Given the description of an element on the screen output the (x, y) to click on. 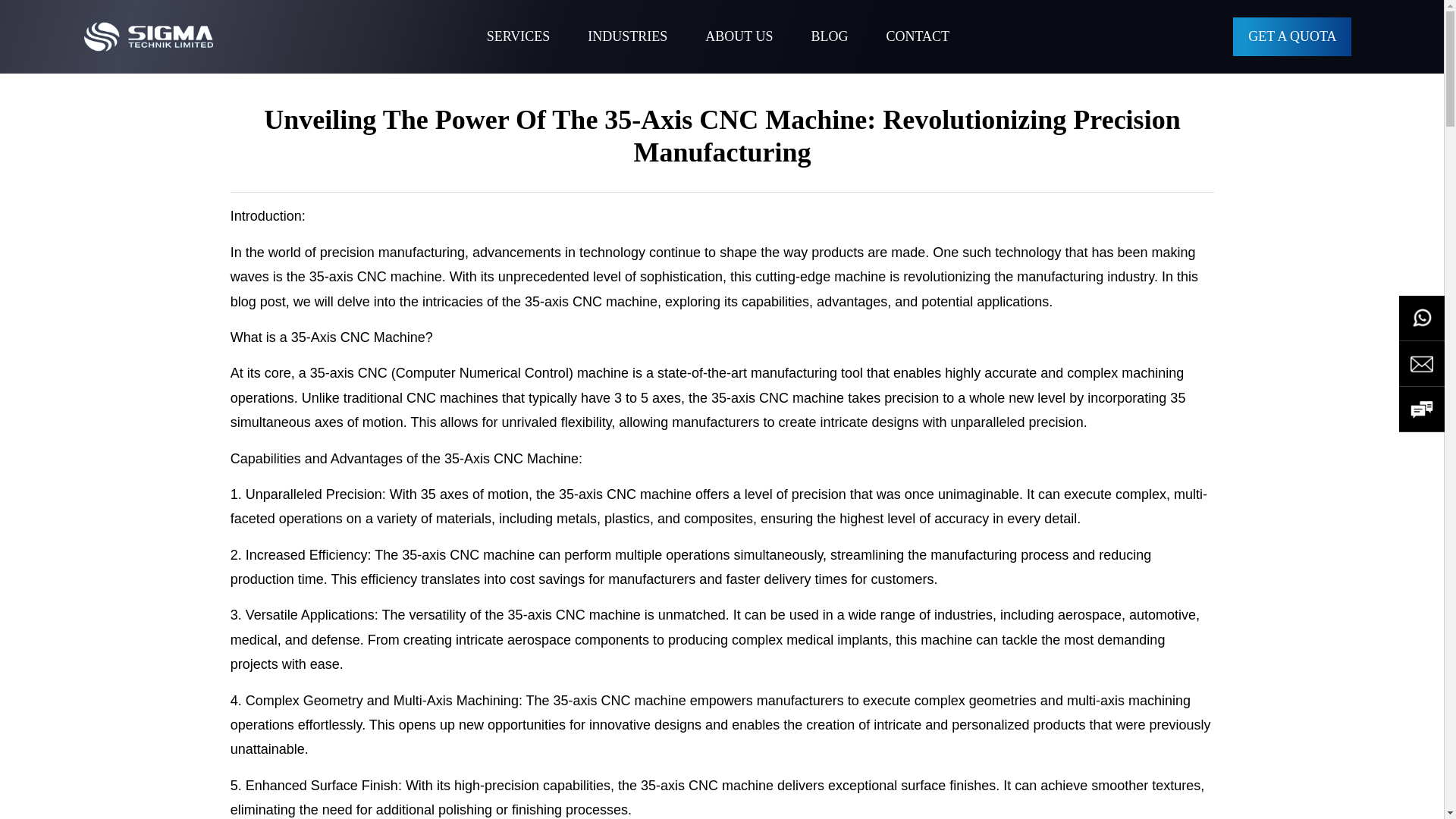
SERVICES (518, 36)
CONTACT (917, 36)
INDUSTRIES (627, 36)
GET A QUOTA (1292, 36)
BLOG (829, 36)
ABOUT US (738, 36)
